Given the description of an element on the screen output the (x, y) to click on. 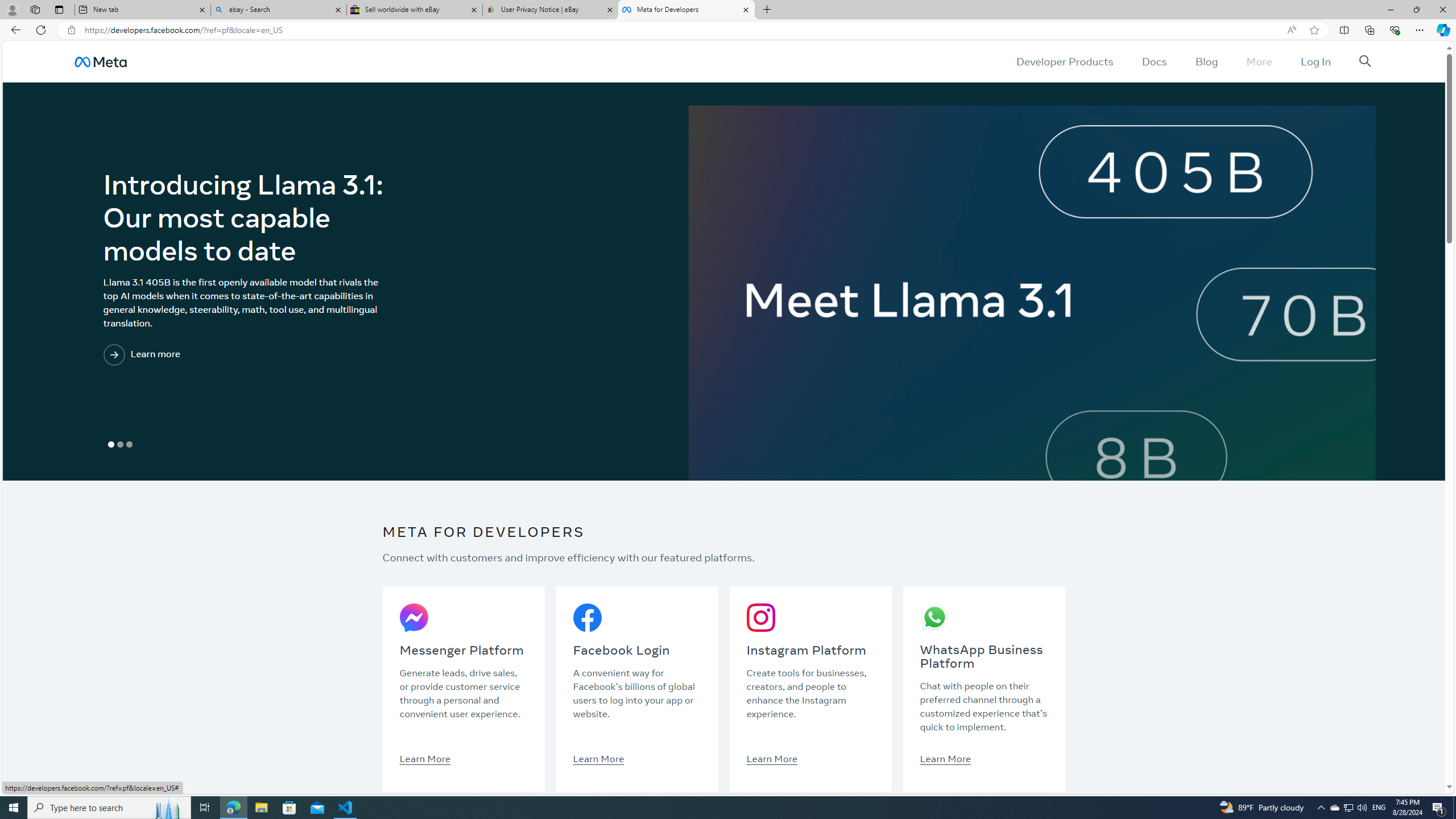
Developer Products (1064, 61)
Docs (1153, 61)
Meta for Developers (685, 9)
Learn More (945, 758)
Learn more (188, 355)
Sell worldwide with eBay (414, 9)
More (1259, 61)
Blog (1205, 61)
